Given the description of an element on the screen output the (x, y) to click on. 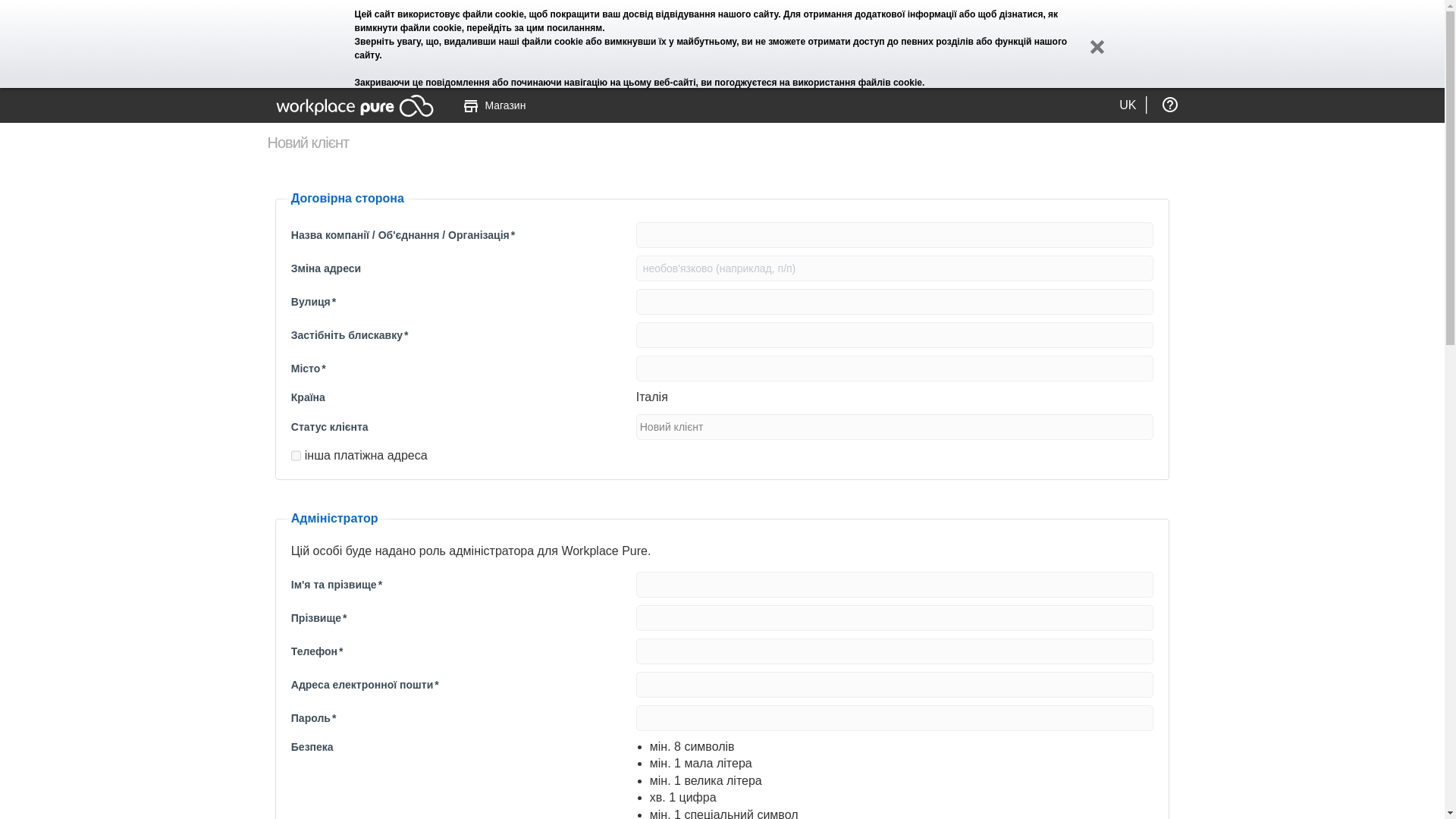
UK (1126, 100)
on (296, 455)
